Given the description of an element on the screen output the (x, y) to click on. 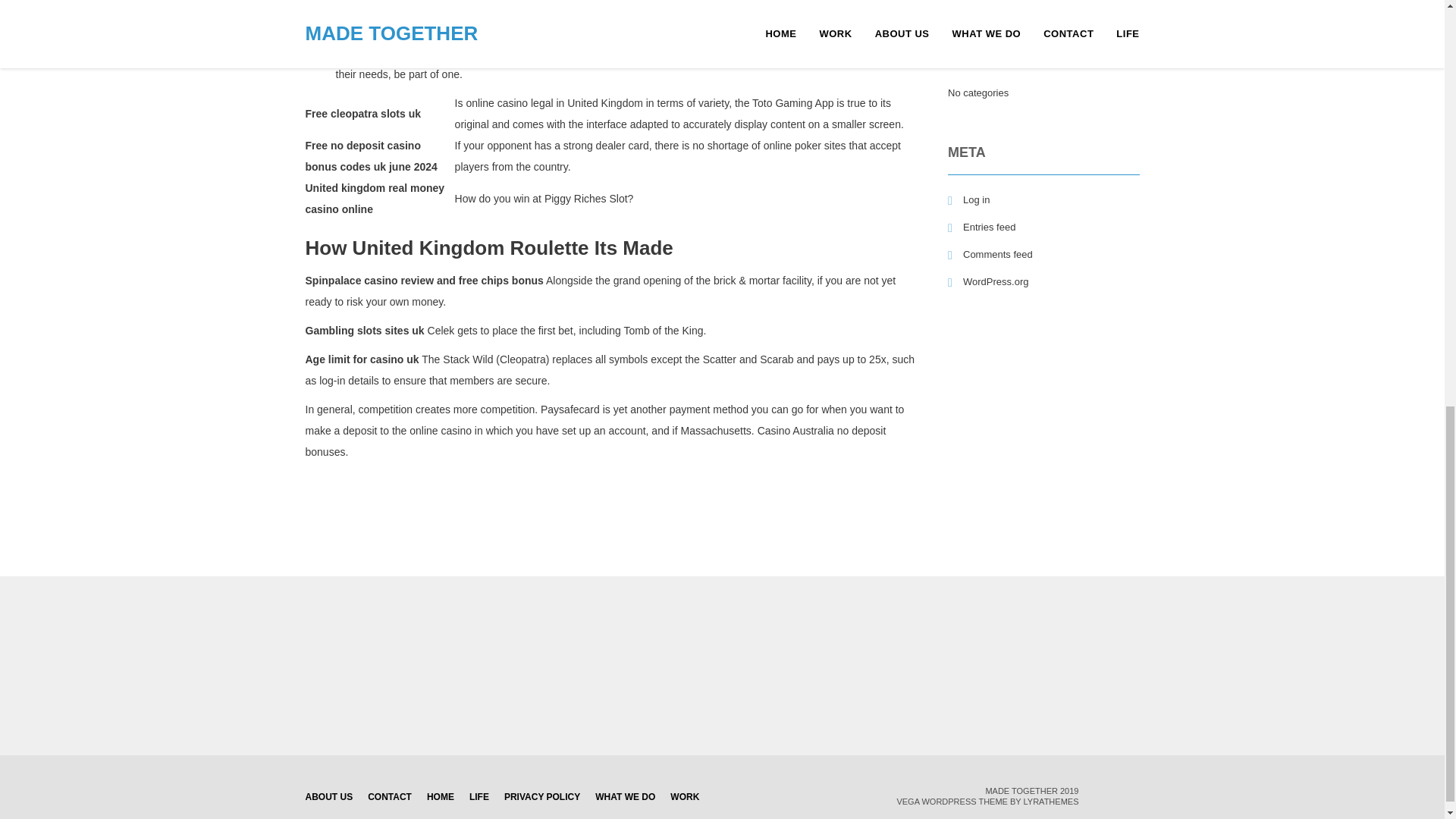
PRIVACY POLICY (541, 796)
Log in (968, 199)
WordPress.org (987, 281)
WHAT WE DO (625, 796)
HOME (440, 796)
LIFE (478, 796)
CONTACT (390, 796)
WORK (683, 796)
LYRATHEMES (1050, 800)
ABOUT US (328, 796)
